Given the description of an element on the screen output the (x, y) to click on. 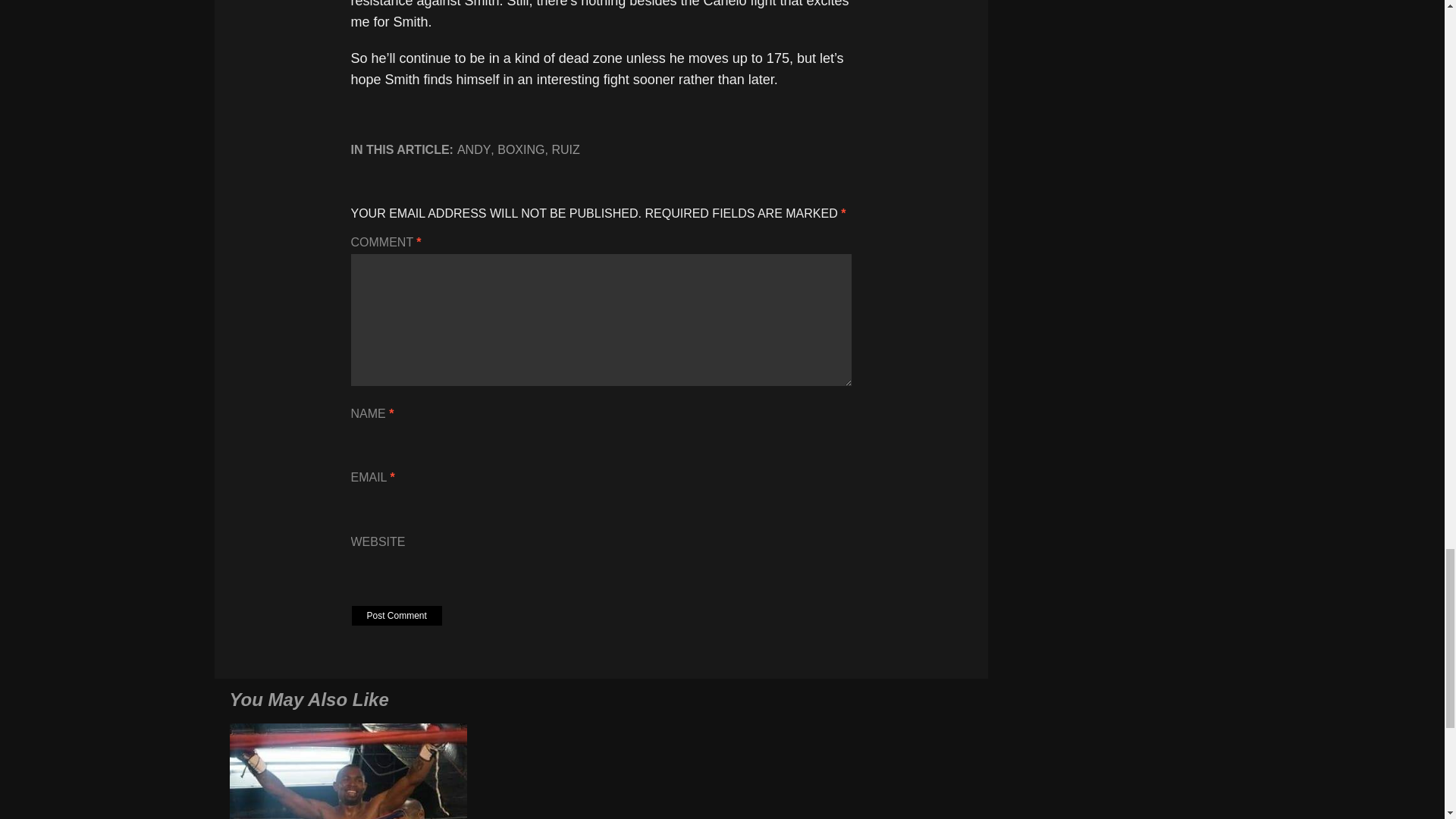
Post Comment (397, 615)
